Given the description of an element on the screen output the (x, y) to click on. 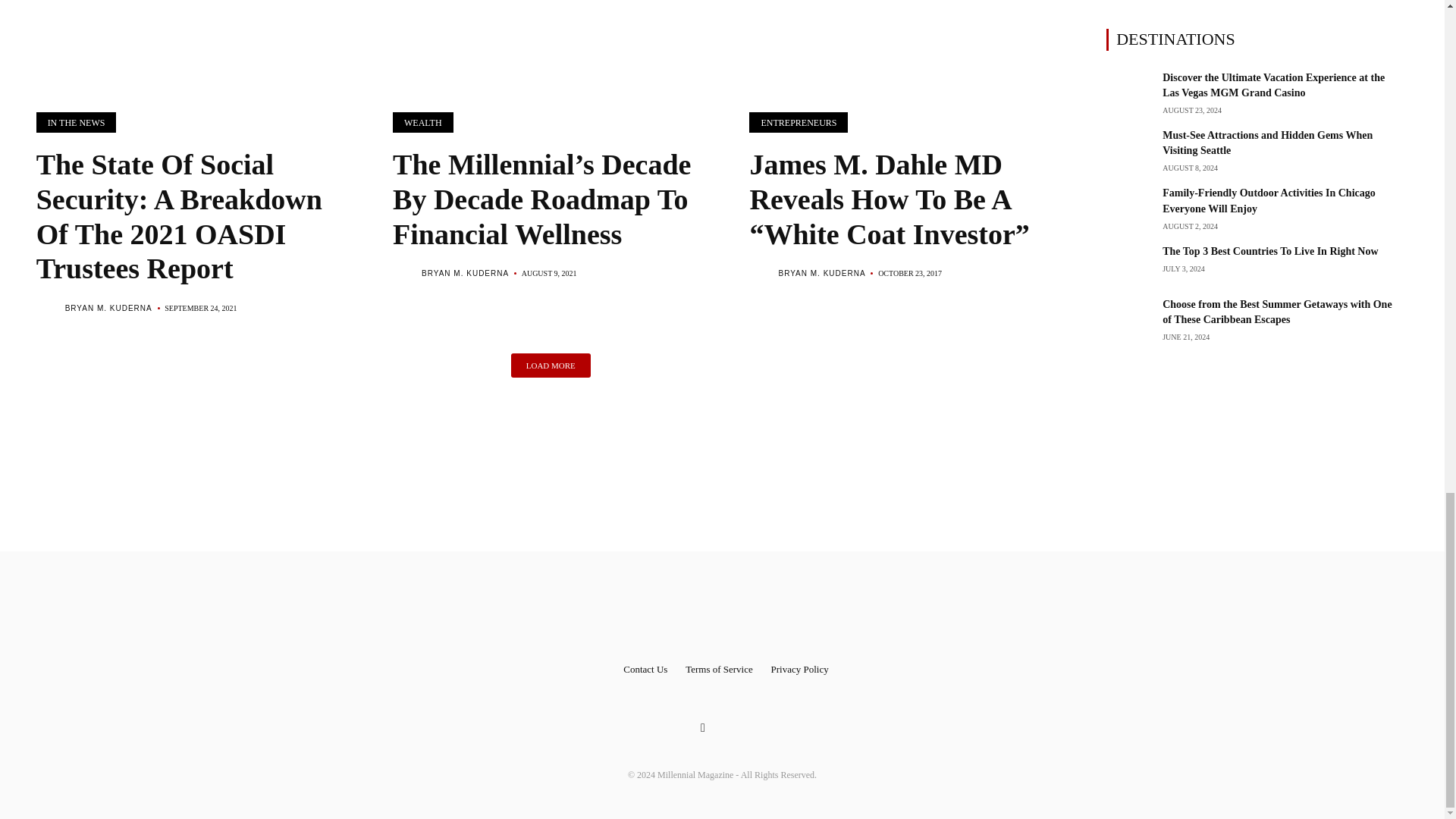
Posts by Bryan M. Kuderna (108, 307)
Posts by Bryan M. Kuderna (820, 273)
Posts by Bryan M. Kuderna (465, 273)
